Given the description of an element on the screen output the (x, y) to click on. 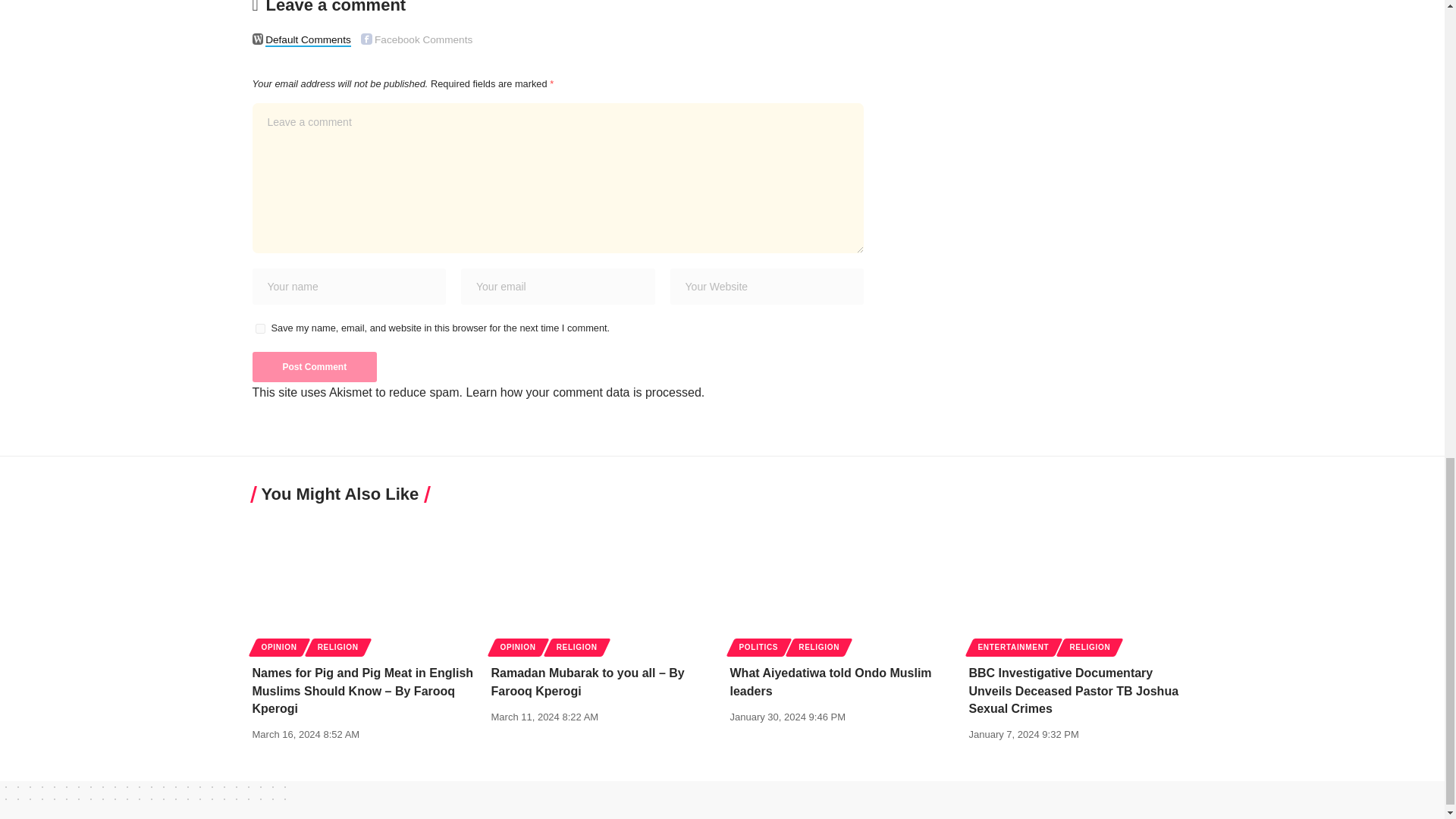
Default Comments (257, 39)
What Aiyedatiwa told Ondo Muslim leaders (841, 584)
Post Comment (314, 367)
yes (259, 328)
Facebook Comments (366, 39)
